Given the description of an element on the screen output the (x, y) to click on. 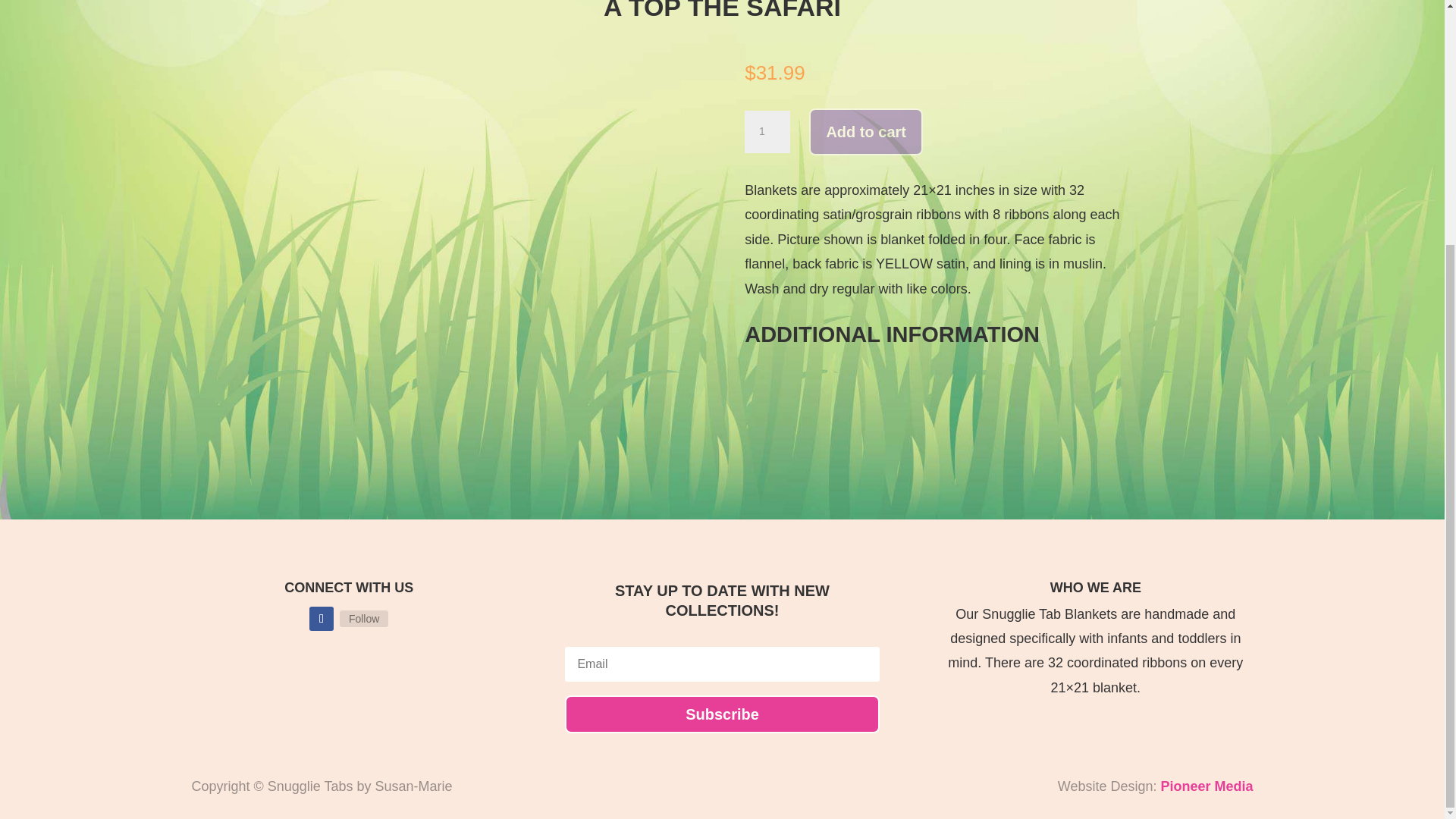
Facebook (363, 618)
Pioneer Media (1206, 785)
Follow on Facebook (320, 618)
1 (767, 131)
Subscribe (721, 714)
Add to cart (866, 132)
Follow (363, 618)
